Given the description of an element on the screen output the (x, y) to click on. 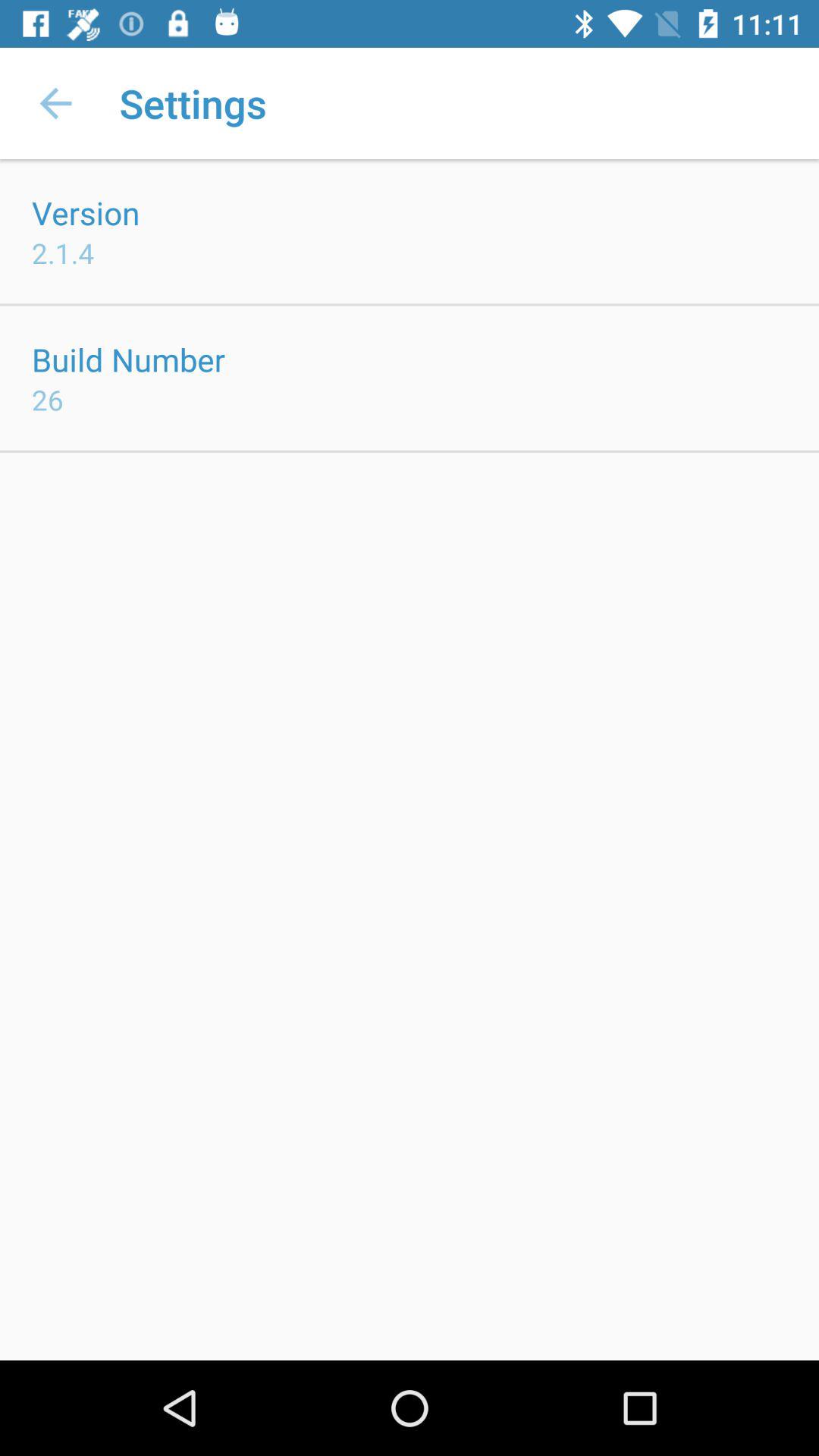
jump until the version (85, 212)
